Given the description of an element on the screen output the (x, y) to click on. 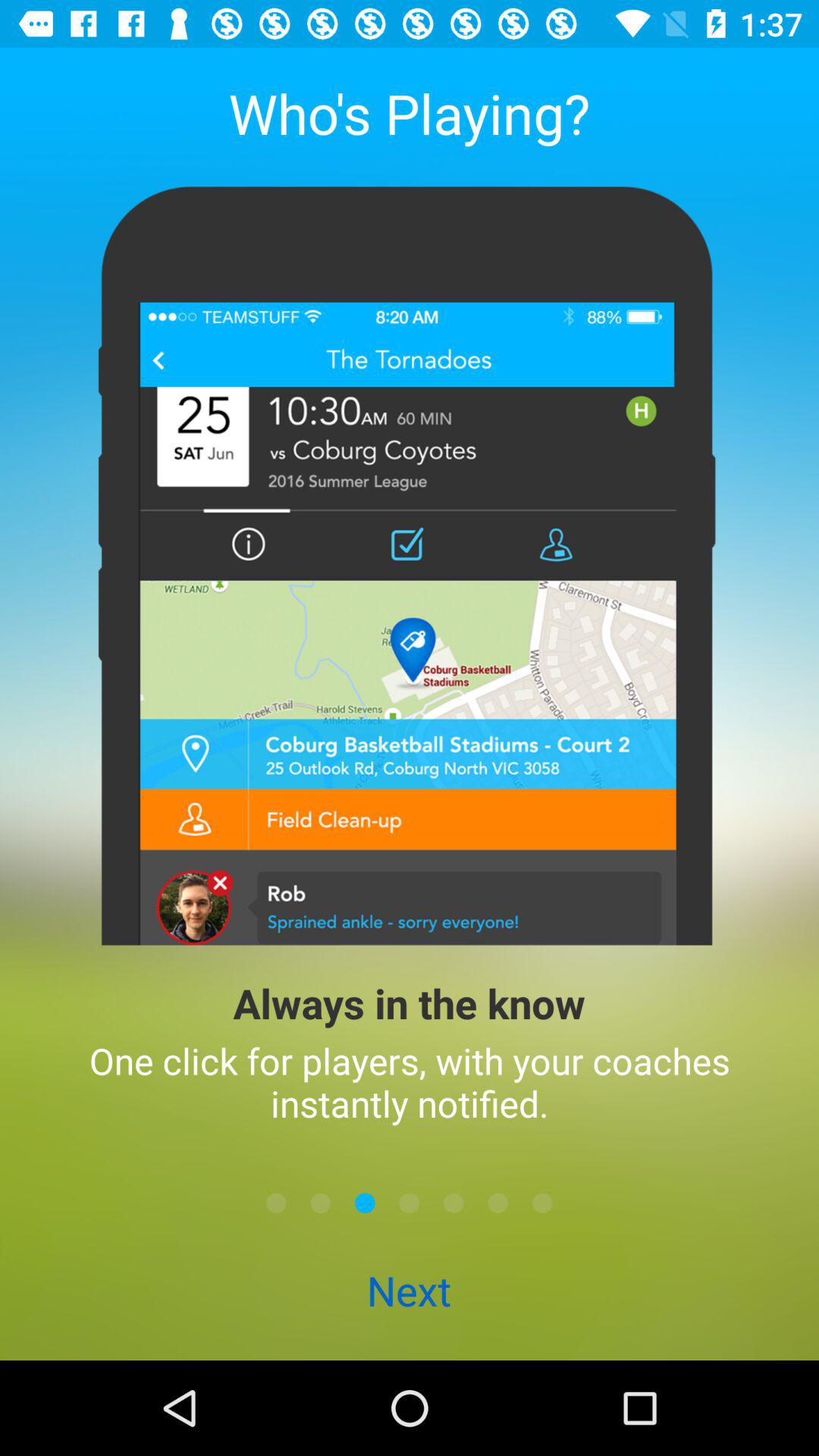
go to next page (409, 1203)
